Given the description of an element on the screen output the (x, y) to click on. 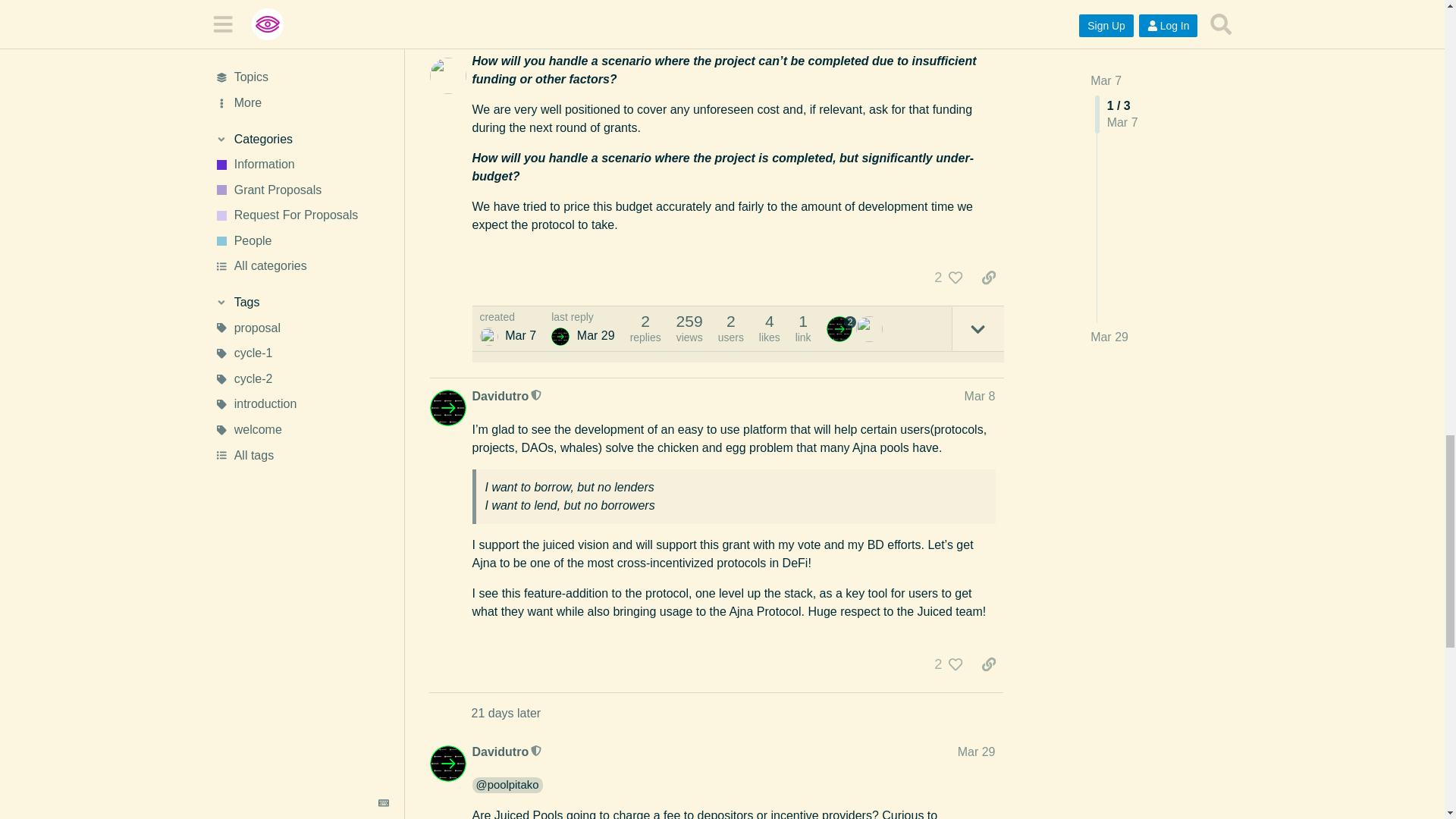
last reply (582, 317)
